Given the description of an element on the screen output the (x, y) to click on. 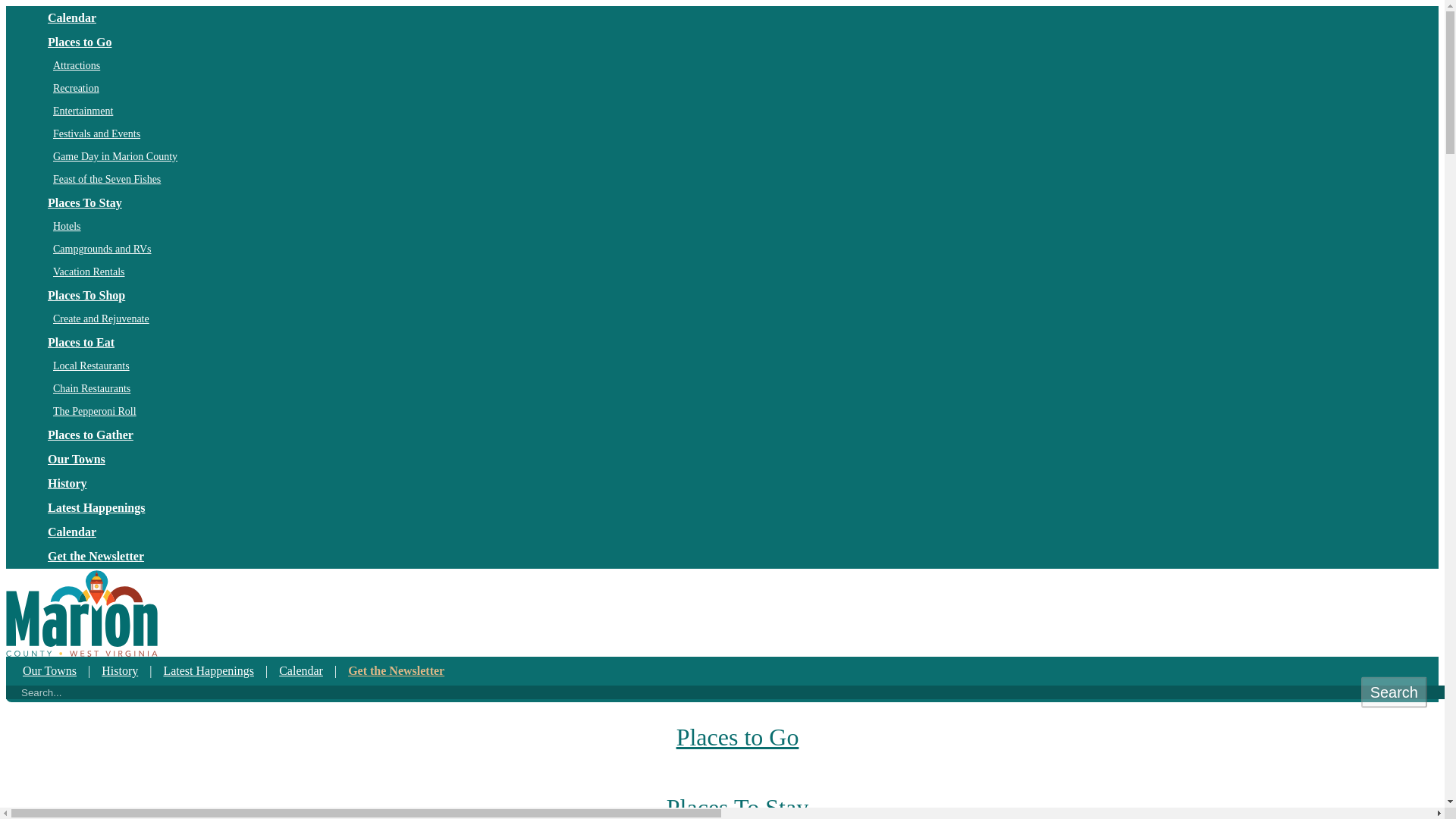
Festivals and Events (740, 133)
Feast of the Seven Fishes (740, 179)
Campgrounds and RVs (740, 249)
Game Day in Marion County (740, 156)
History (120, 670)
Local Restaurants (740, 365)
Our Towns (50, 670)
The Pepperoni Roll (740, 411)
Calendar (737, 17)
Places to Go (737, 42)
Places To Stay (737, 796)
Calendar (737, 532)
Search (1393, 691)
Places to Go (737, 737)
Places To Shop (737, 295)
